Given the description of an element on the screen output the (x, y) to click on. 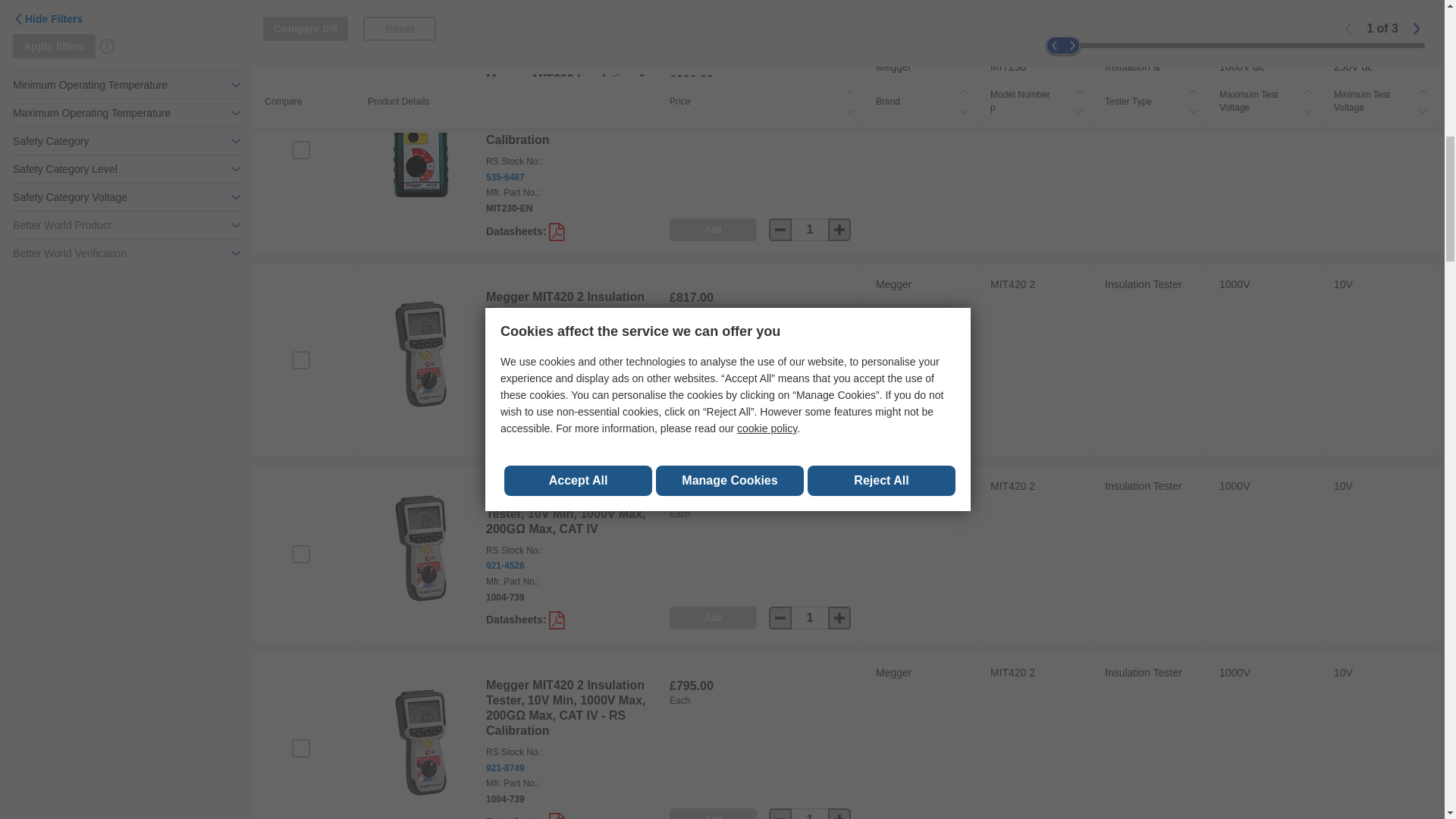
on (299, 554)
on (299, 748)
on (299, 360)
on (299, 149)
1 (810, 617)
1 (810, 11)
1 (810, 813)
1 (810, 431)
1 (810, 229)
